Given the description of an element on the screen output the (x, y) to click on. 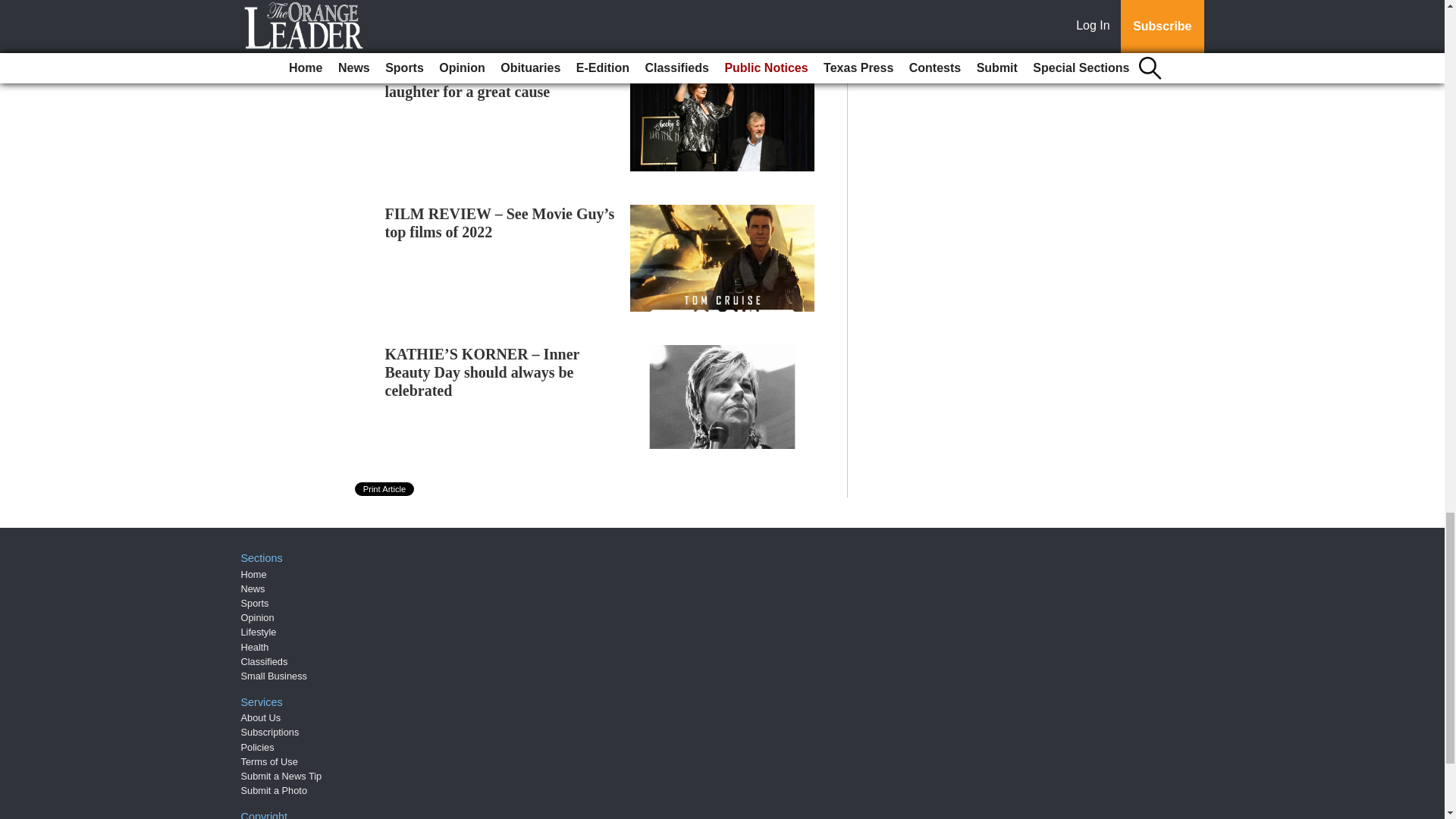
Sports (255, 603)
The Not So Newlywed Game brings laughter for a great cause (500, 82)
The Not So Newlywed Game brings laughter for a great cause (500, 82)
Print Article (384, 489)
News (252, 588)
Opinion (258, 617)
Home (253, 573)
